Given the description of an element on the screen output the (x, y) to click on. 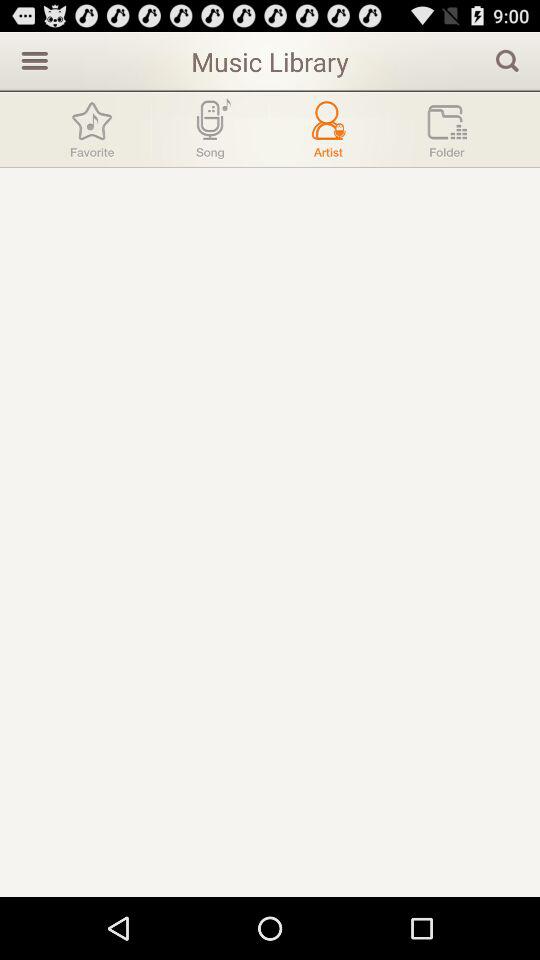
press icon at the center (270, 531)
